Given the description of an element on the screen output the (x, y) to click on. 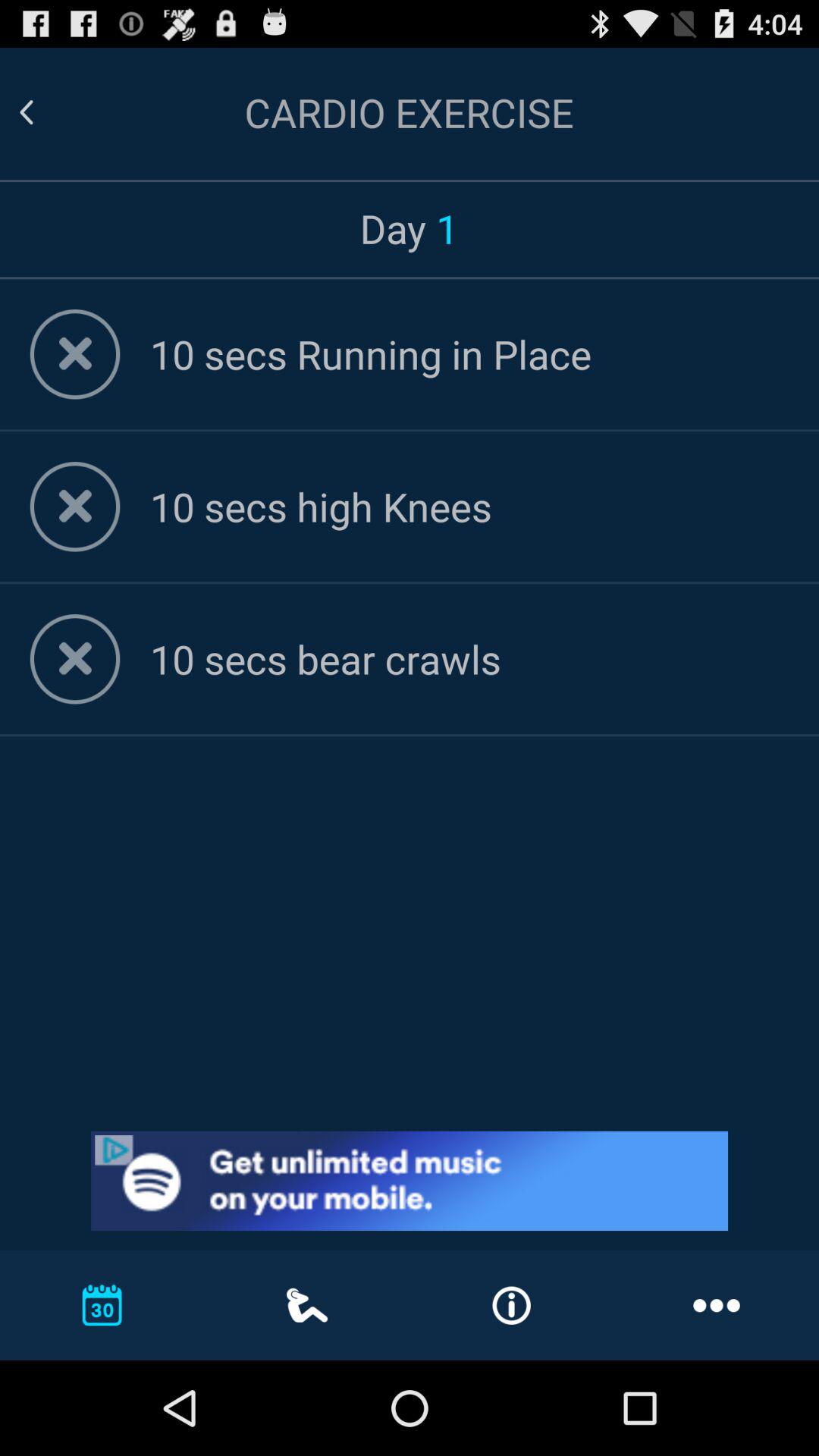
click on the icon next to information icon (716, 1304)
select the calendar icon which is on the left bottom (102, 1304)
